Given the description of an element on the screen output the (x, y) to click on. 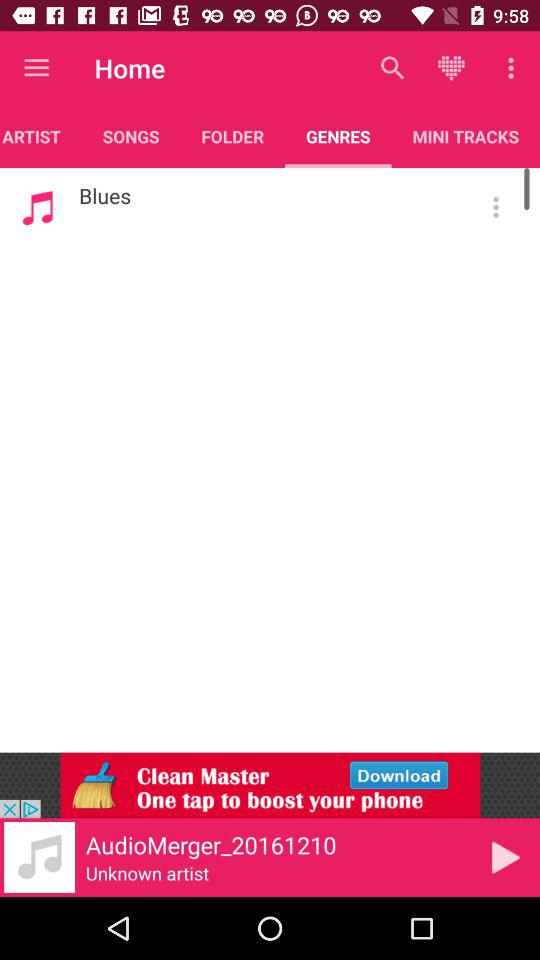
show options (495, 207)
